Given the description of an element on the screen output the (x, y) to click on. 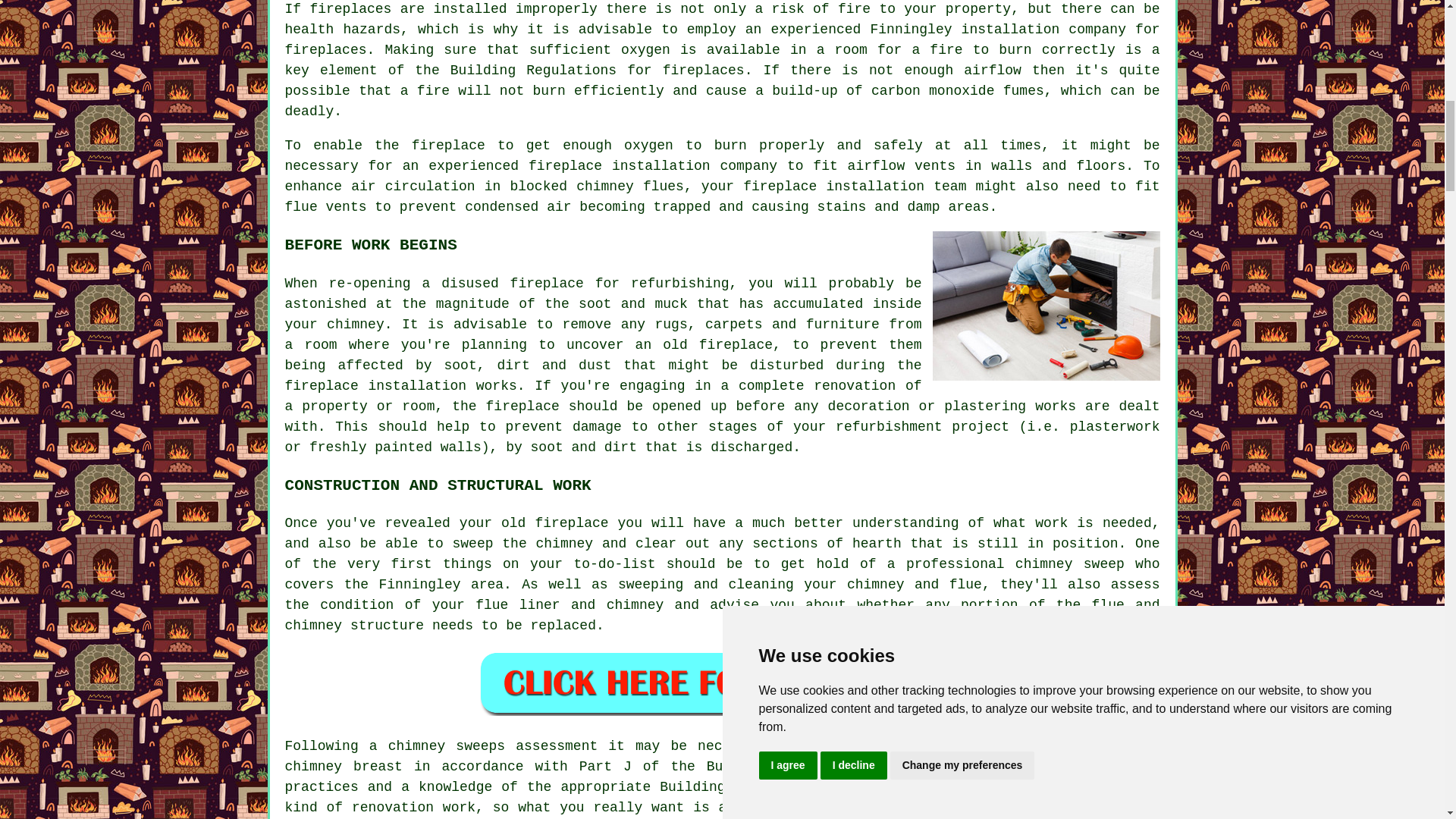
fireplaces (703, 70)
fireplaces (325, 49)
chimney (416, 745)
fireplaces (349, 8)
Finningley Fireplace Installer Quotes (722, 682)
fireplace installation (619, 165)
